Given the description of an element on the screen output the (x, y) to click on. 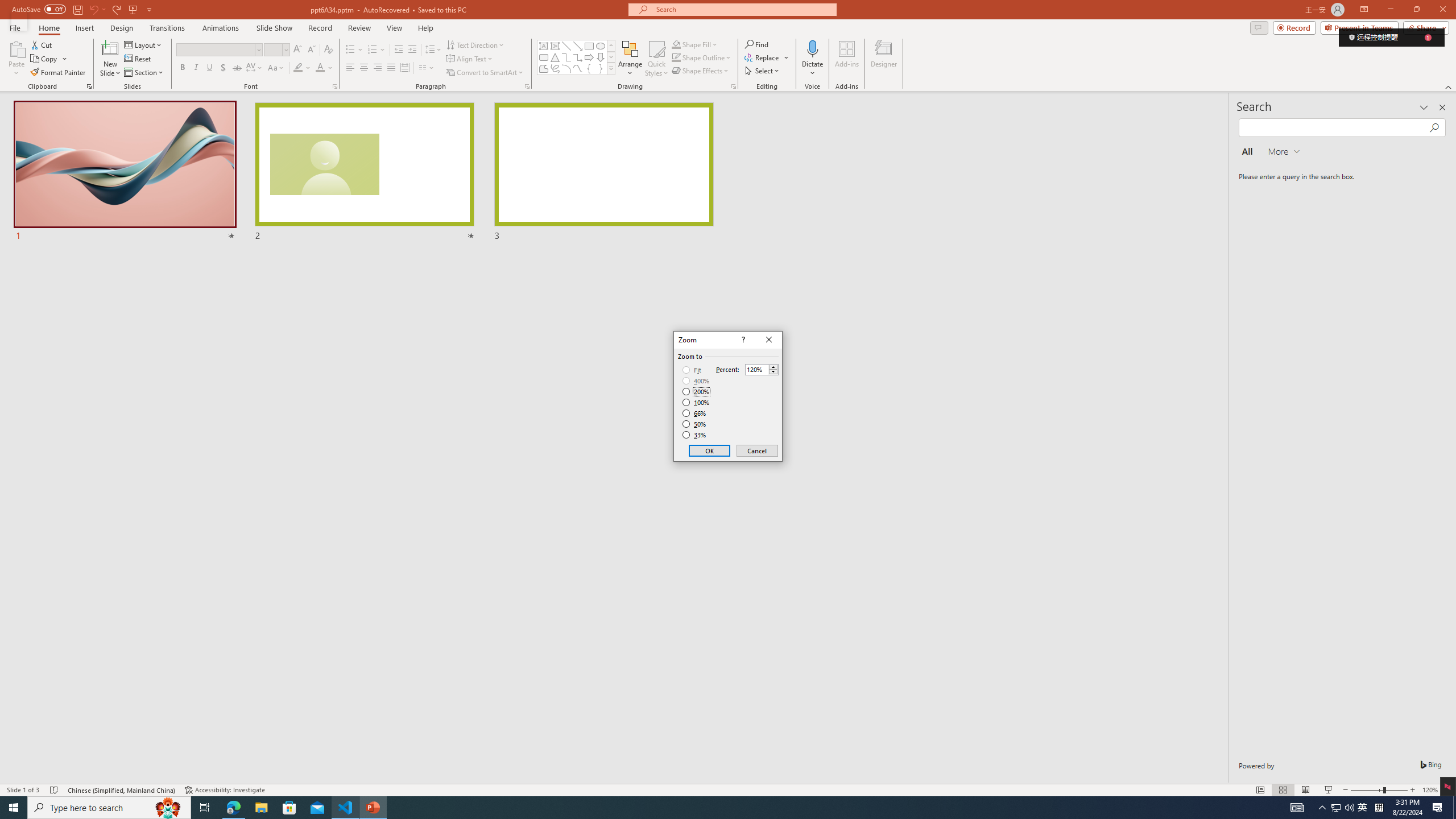
Find... (756, 44)
Shape Outline (701, 56)
Isosceles Triangle (554, 57)
200% (696, 391)
Curve (577, 68)
Show desktop (1454, 807)
Vertical Text Box (554, 45)
